Given the description of an element on the screen output the (x, y) to click on. 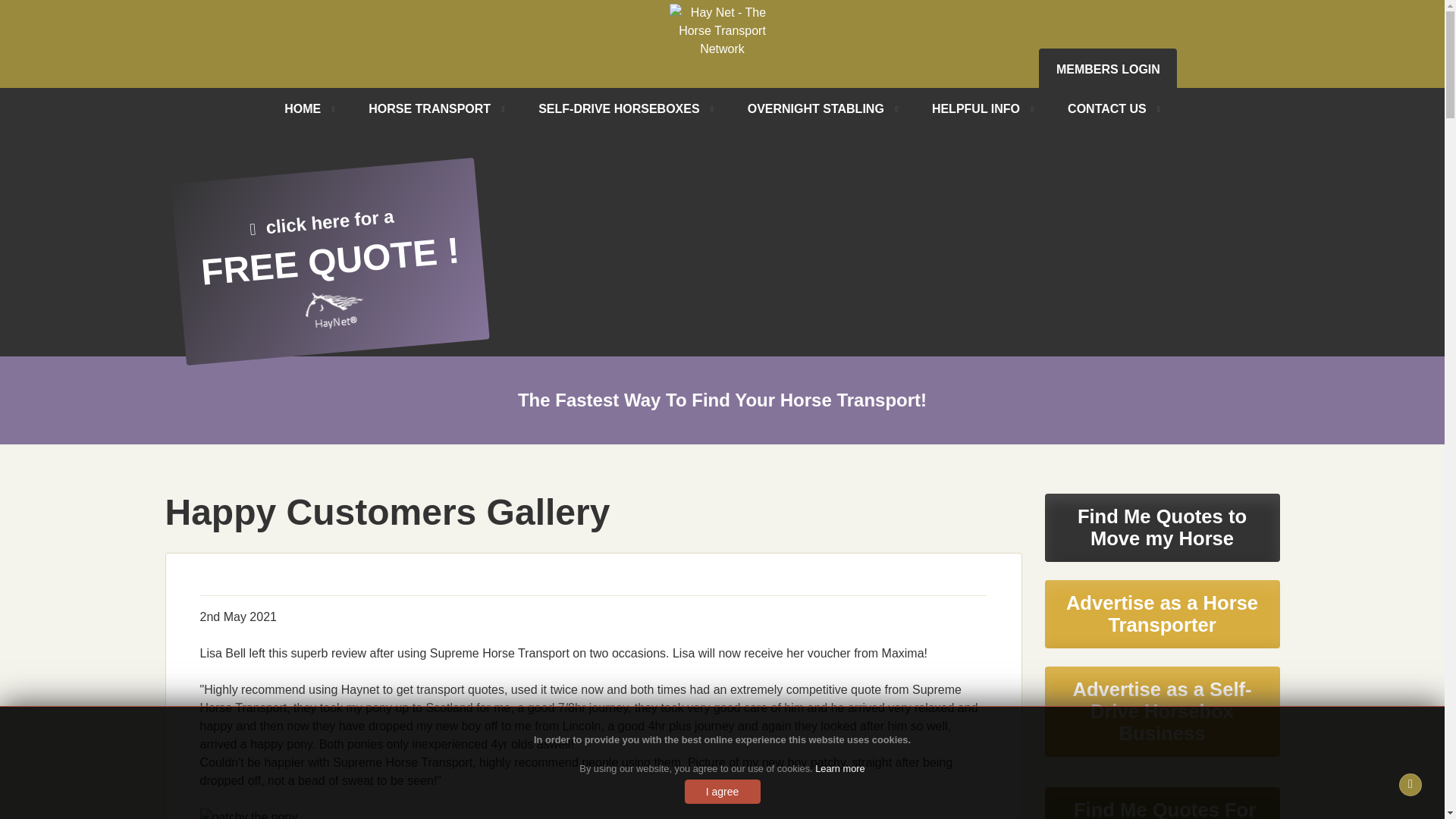
MEMBERS LOGIN (322, 248)
Hay Net - The Horse Transport Network (1107, 68)
Find Me Quotes to Move my Horse (721, 40)
